Given the description of an element on the screen output the (x, y) to click on. 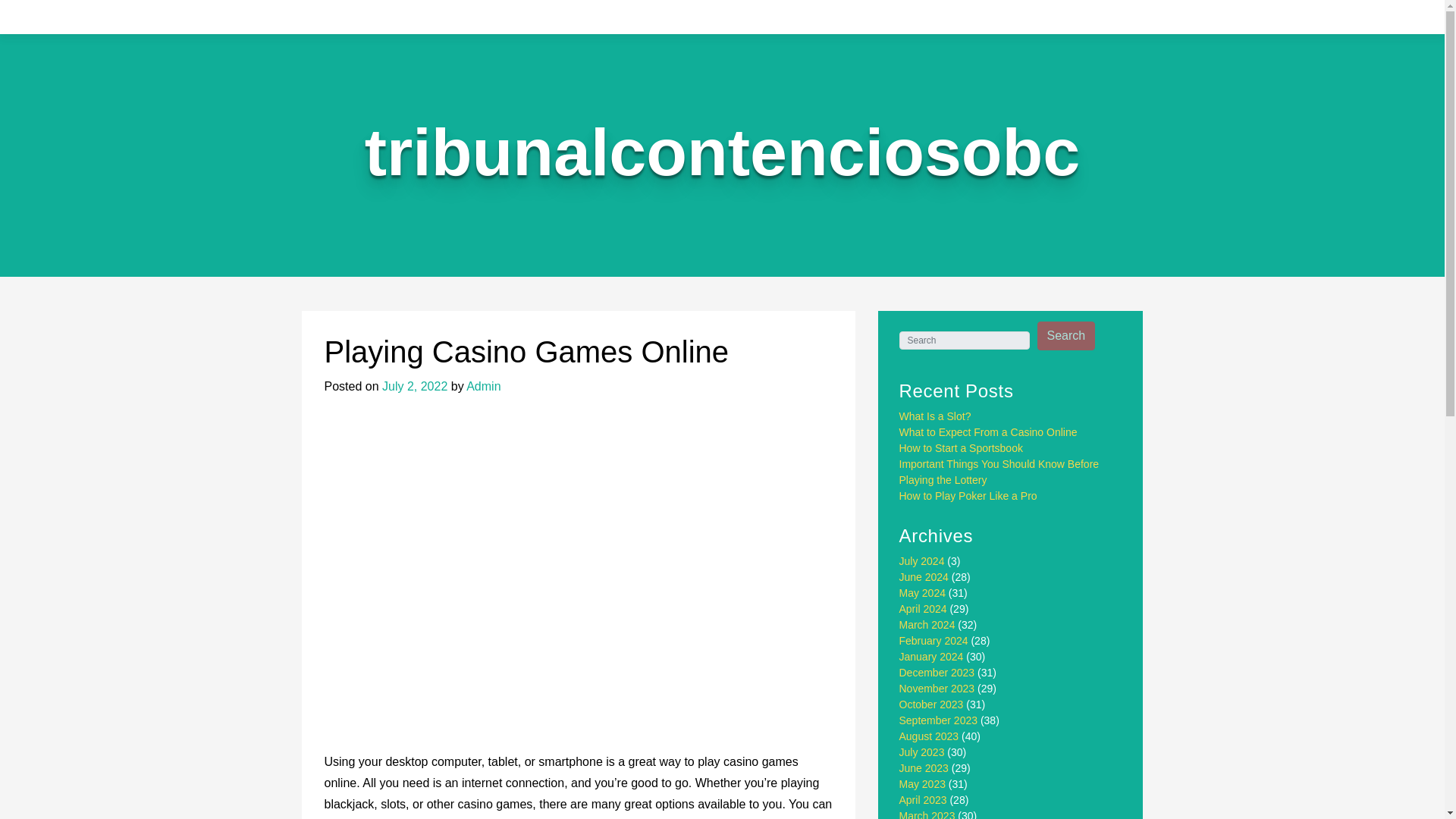
Search (1066, 335)
How to Start a Sportsbook (961, 448)
July 2023 (921, 752)
May 2023 (921, 784)
February 2024 (933, 640)
April 2023 (923, 799)
August 2023 (929, 736)
October 2023 (931, 704)
What to Expect From a Casino Online (988, 431)
November 2023 (937, 688)
January 2024 (931, 656)
May 2024 (921, 592)
March 2023 (927, 814)
Admin (482, 386)
Important Things You Should Know Before Playing the Lottery (999, 471)
